Given the description of an element on the screen output the (x, y) to click on. 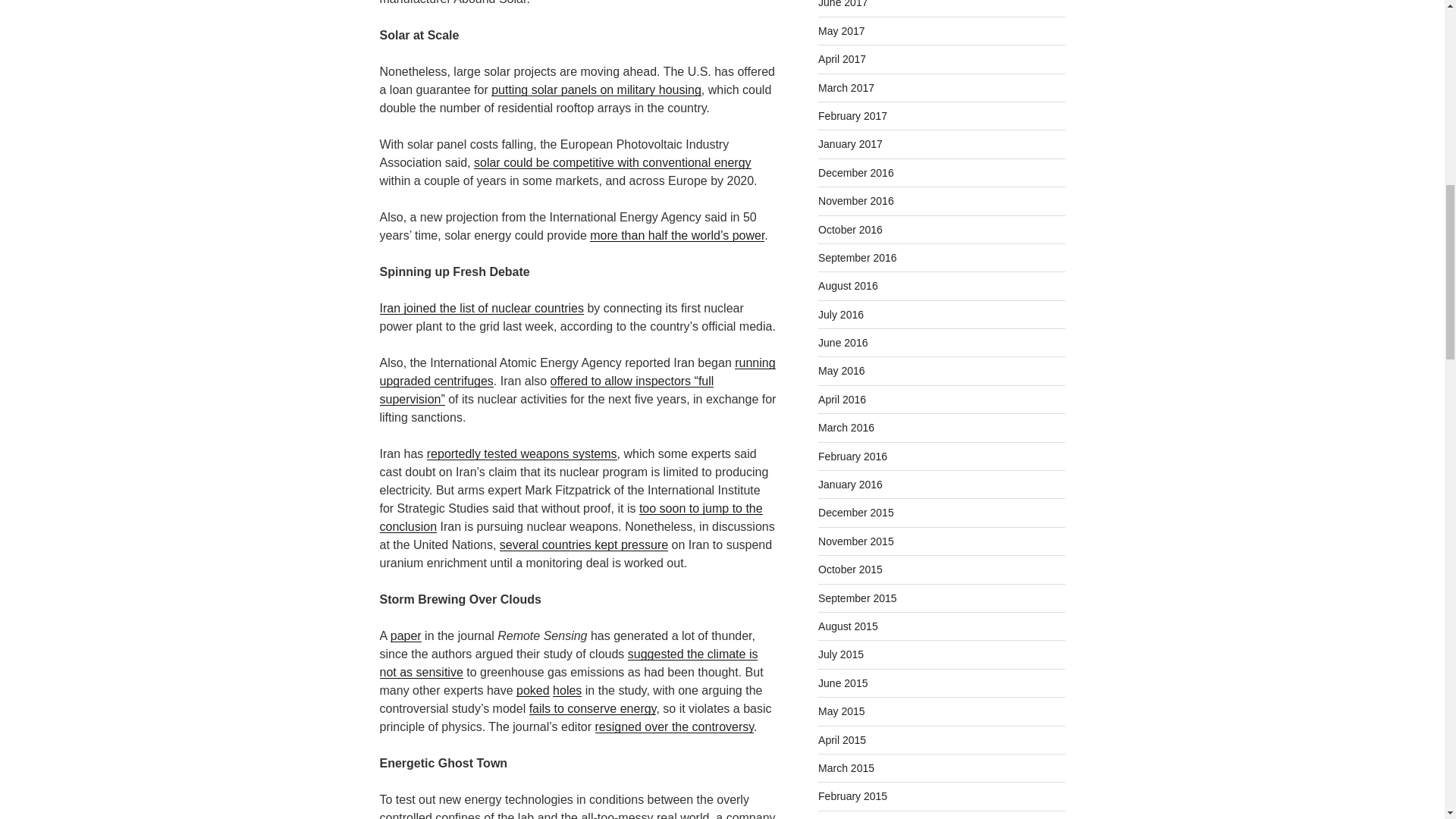
suggested the climate is not as sensitive (567, 662)
poked (533, 689)
resigned over the controversy (674, 726)
holes (566, 689)
paper (406, 635)
several countries kept pressure (583, 544)
Iran joined the list of nuclear countries (480, 308)
putting solar panels on military housing (596, 89)
fails to conserve energy (592, 707)
reportedly tested weapons systems (521, 453)
